Given the description of an element on the screen output the (x, y) to click on. 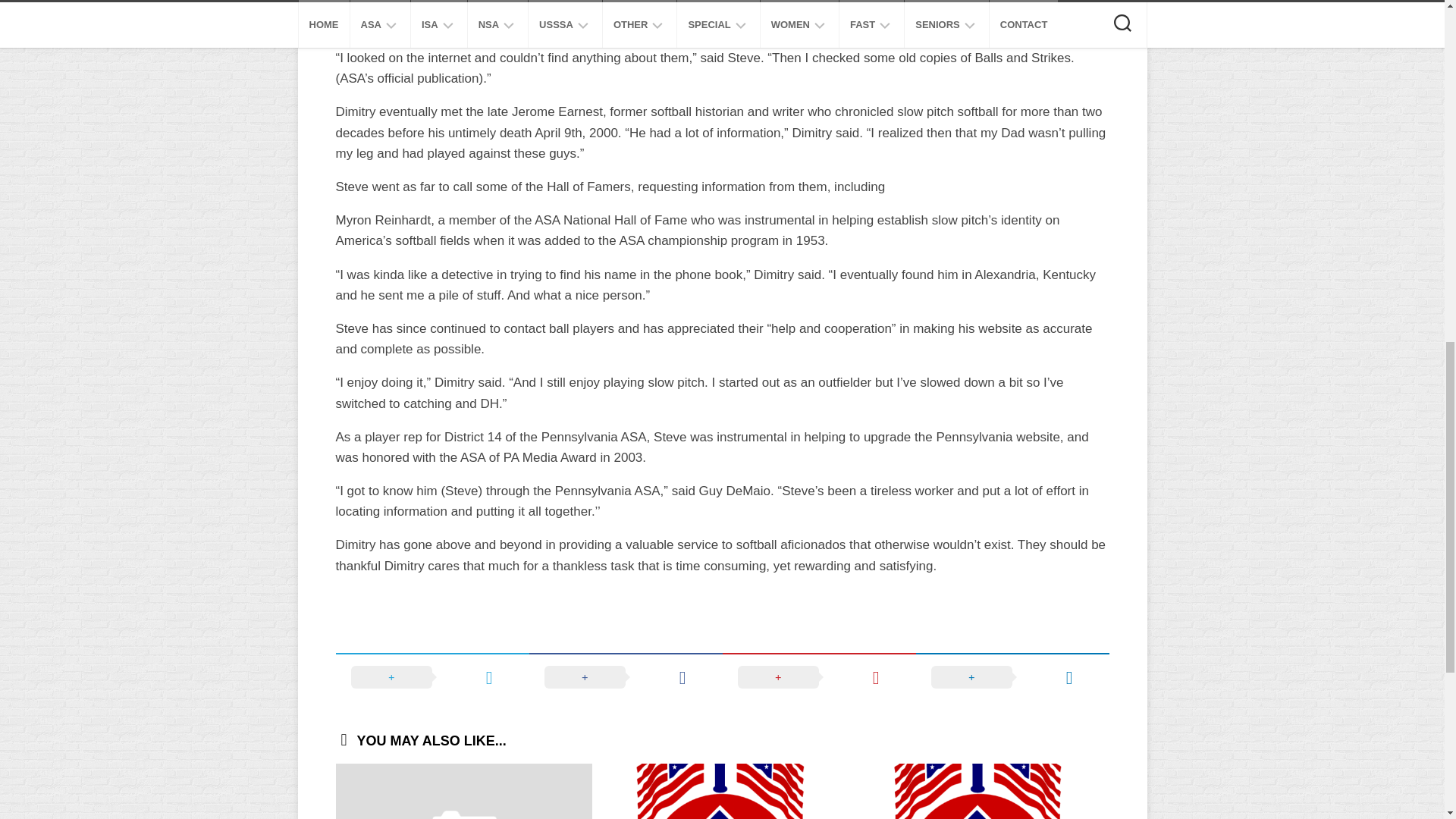
Share on X (431, 676)
Share on Pinterest (818, 676)
Share on Facebook (625, 676)
Share on LinkedIn (1012, 676)
